Given the description of an element on the screen output the (x, y) to click on. 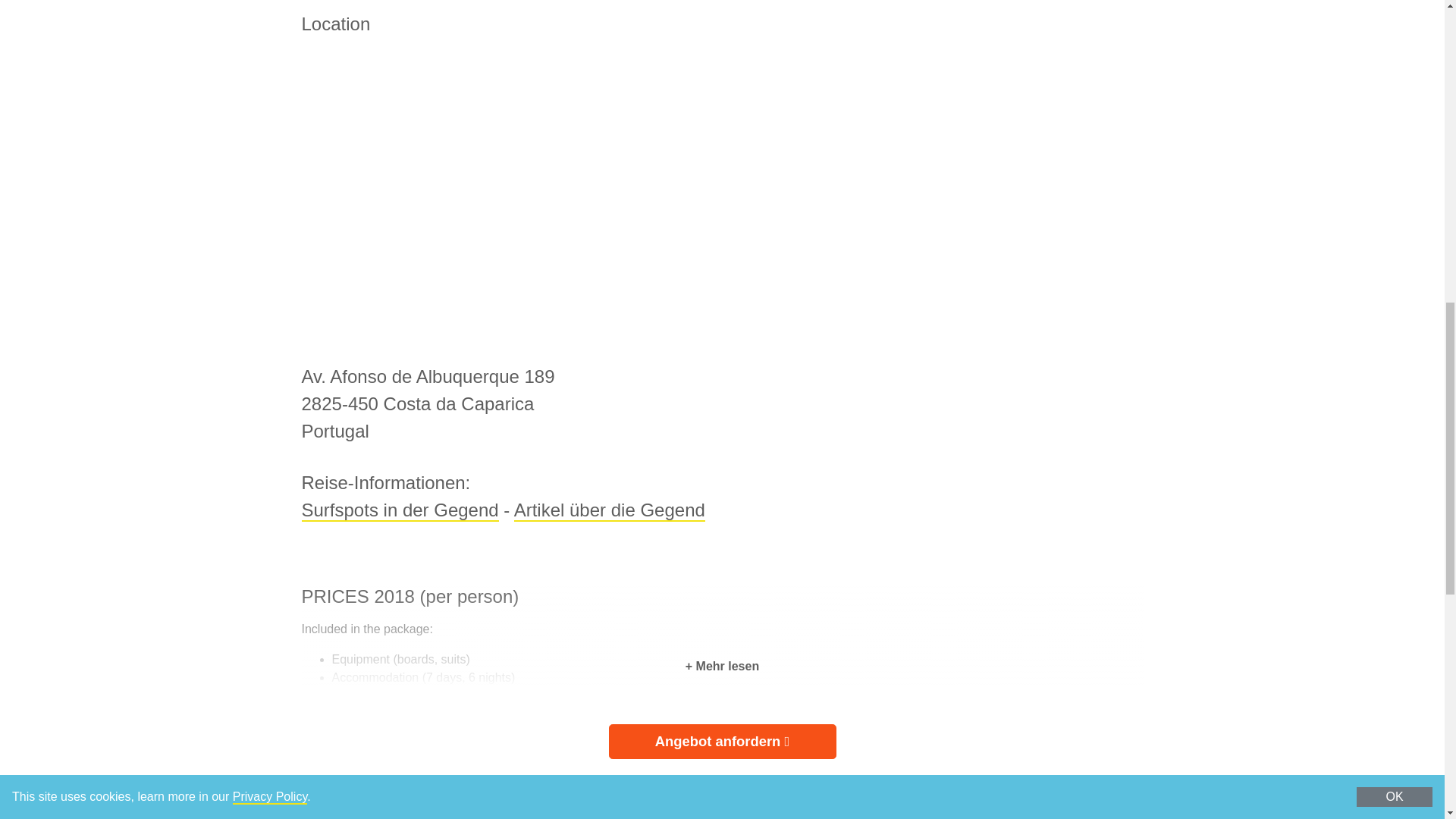
translation missing: de.camps.show.location (336, 23)
Surfspots in der Gegend (400, 510)
Angebot anfordern (721, 741)
